Given the description of an element on the screen output the (x, y) to click on. 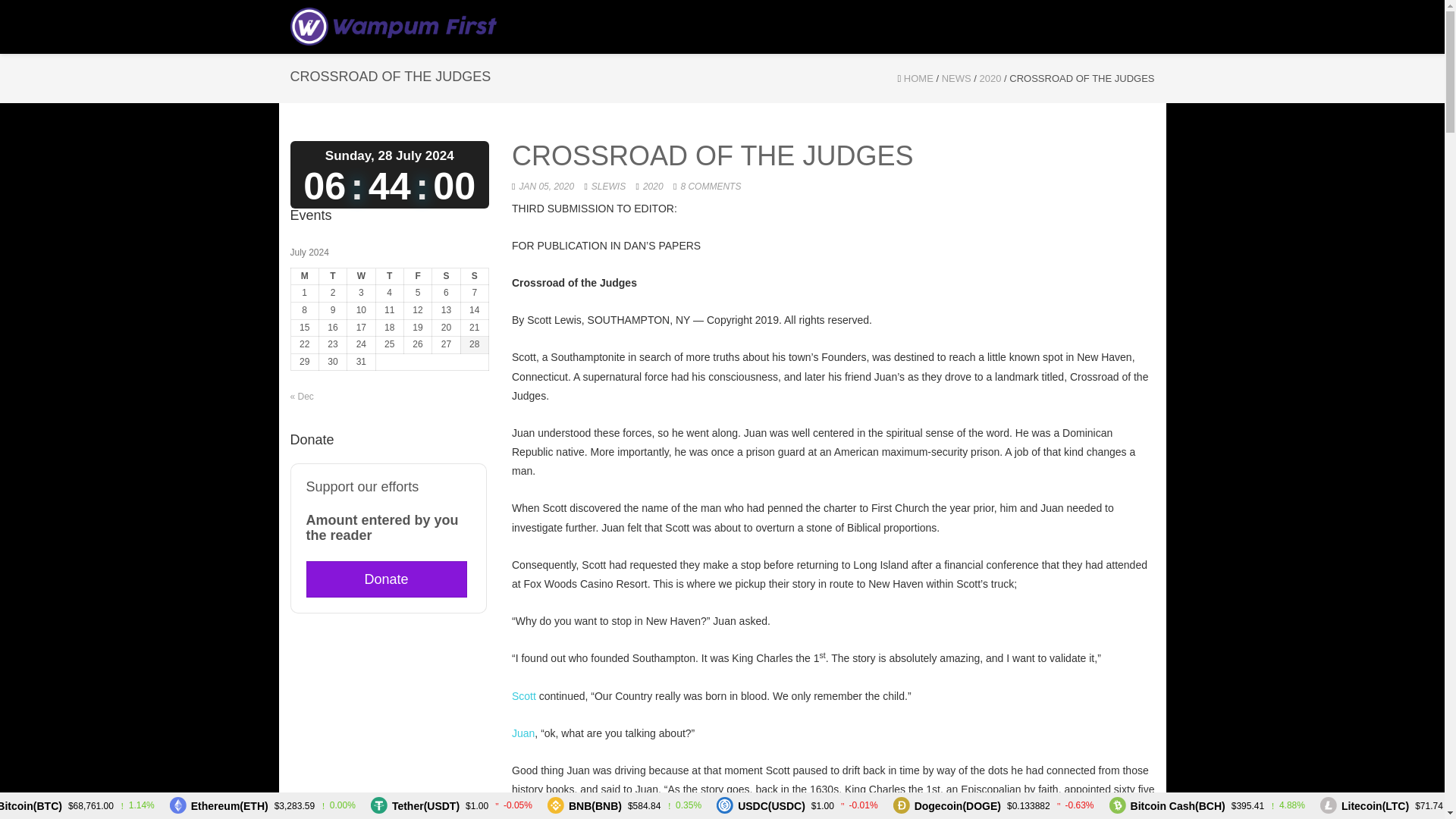
2020 (990, 78)
JAN 05, 2020 (545, 185)
Sunday (473, 276)
Friday (416, 276)
8 COMMENTS (710, 185)
Juan (523, 733)
NEWS (956, 78)
Thursday (389, 276)
Scott (523, 695)
Saturday (446, 276)
Wednesday (361, 276)
Tuesday (332, 276)
HOME (918, 78)
Monday (303, 276)
SLEWIS (608, 185)
